Given the description of an element on the screen output the (x, y) to click on. 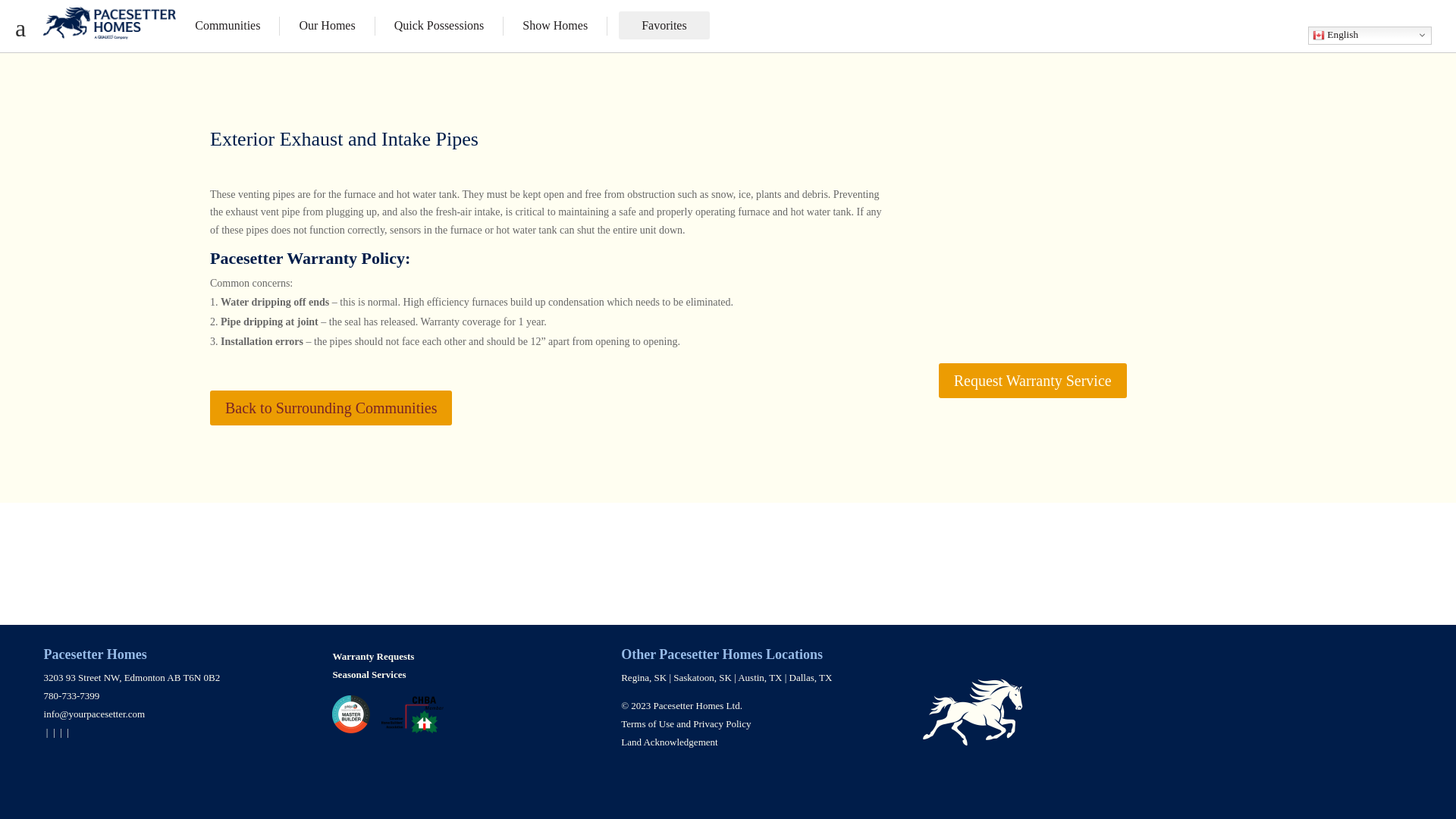
Communities (227, 25)
English (1369, 34)
Show Homes (555, 25)
Quick Possessions (439, 25)
Favorites (664, 25)
Our Homes (326, 25)
